Given the description of an element on the screen output the (x, y) to click on. 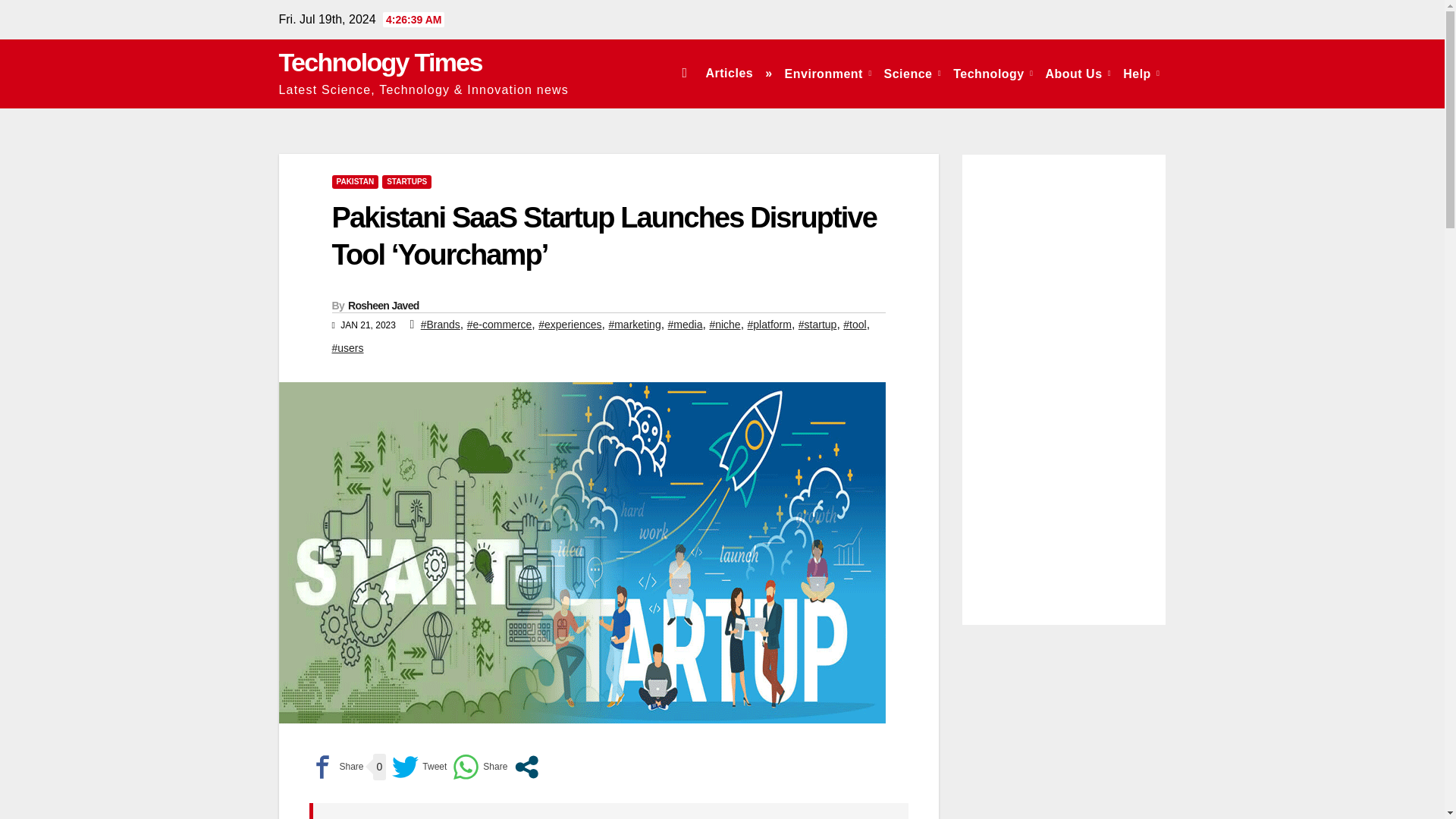
Science (912, 73)
About Us (1077, 73)
Technology (993, 73)
Technology (993, 73)
Environment (827, 73)
Technology Times (380, 61)
Science (912, 73)
Environment (827, 73)
